Given the description of an element on the screen output the (x, y) to click on. 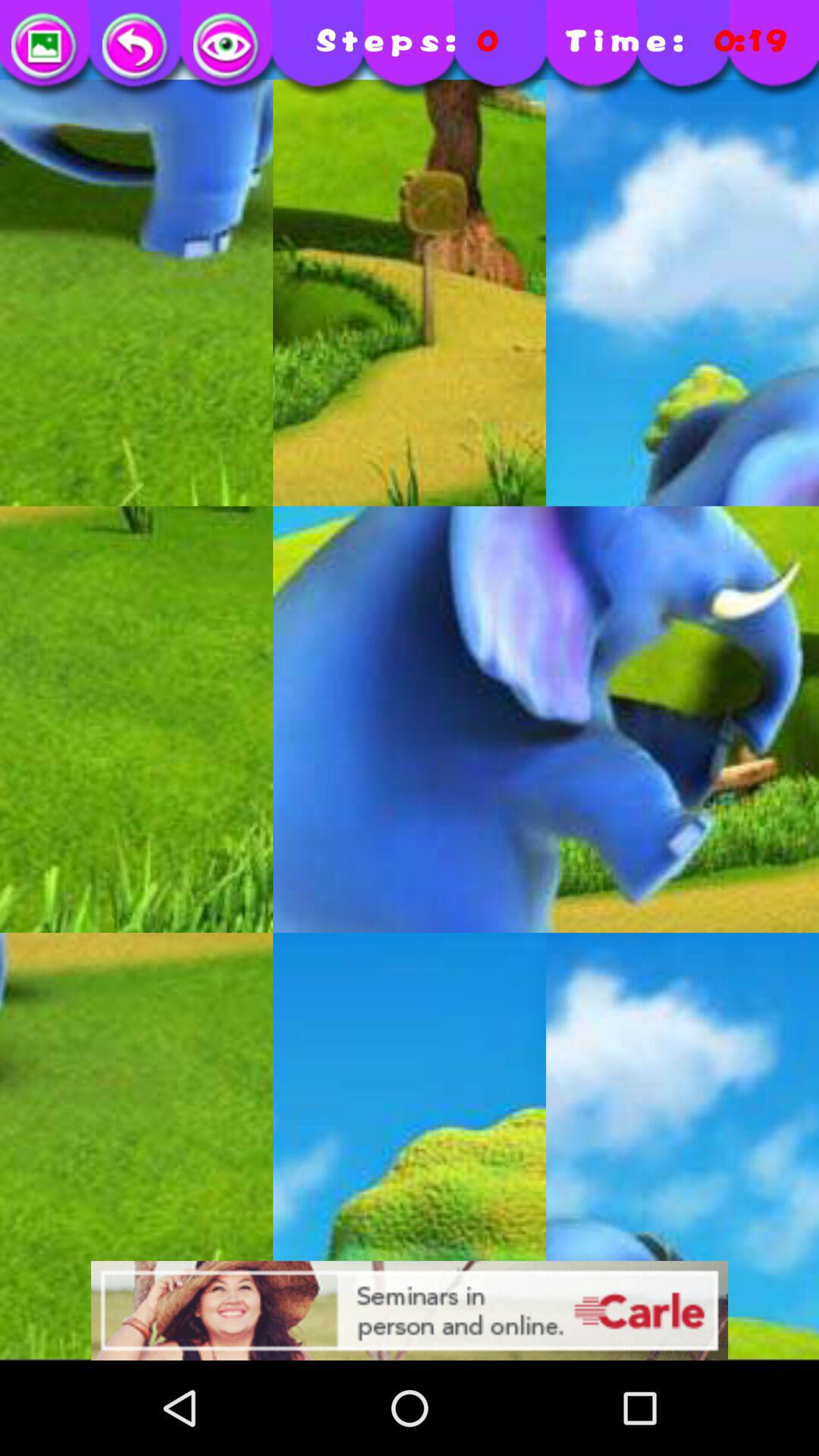
smiling lady (409, 1310)
